Given the description of an element on the screen output the (x, y) to click on. 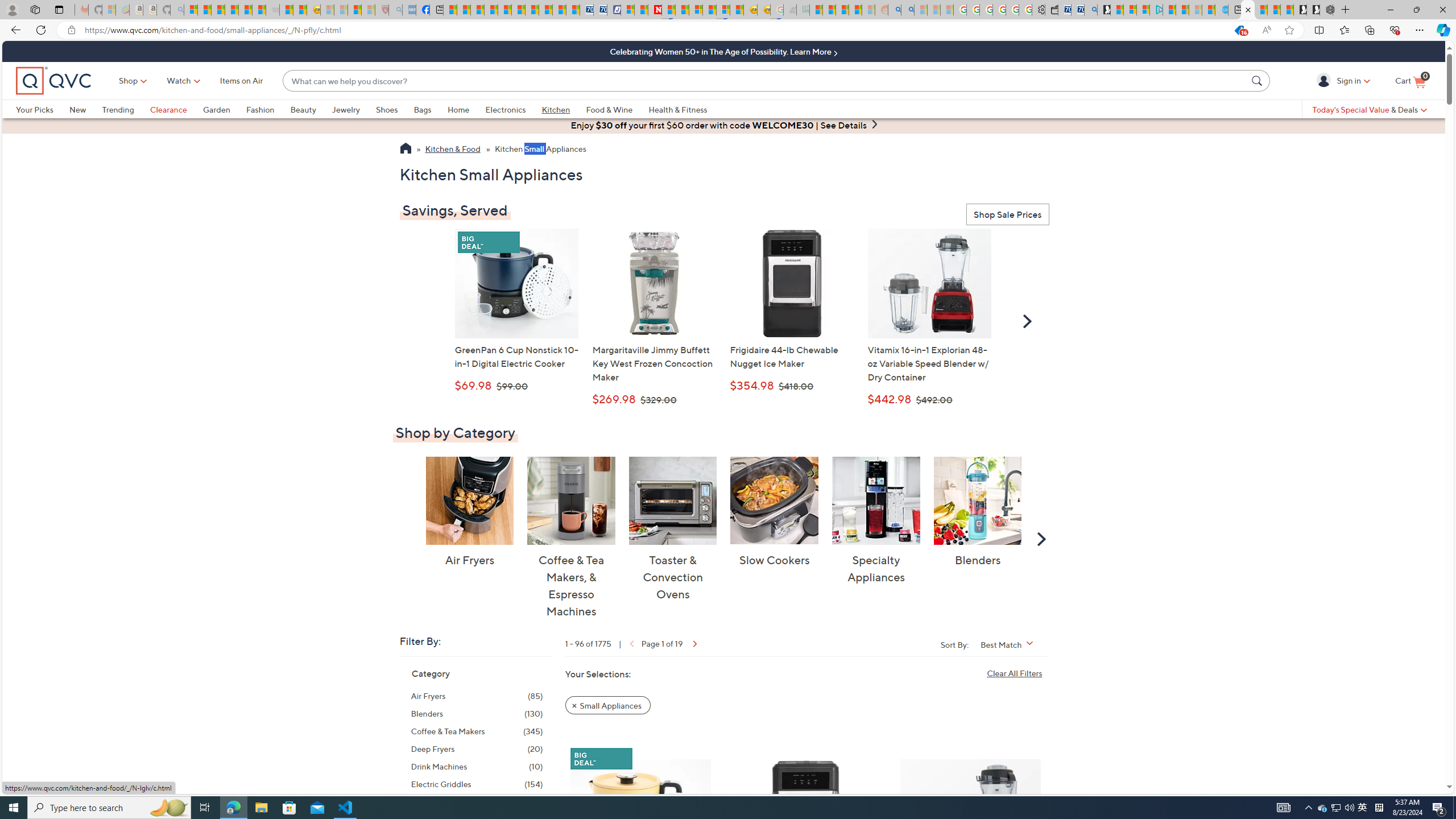
12 Popular Science Lies that Must be Corrected - Sleeping (368, 9)
Blenders Blenders (977, 512)
Blenders, 130 items (476, 713)
Shop (129, 80)
